Given the description of an element on the screen output the (x, y) to click on. 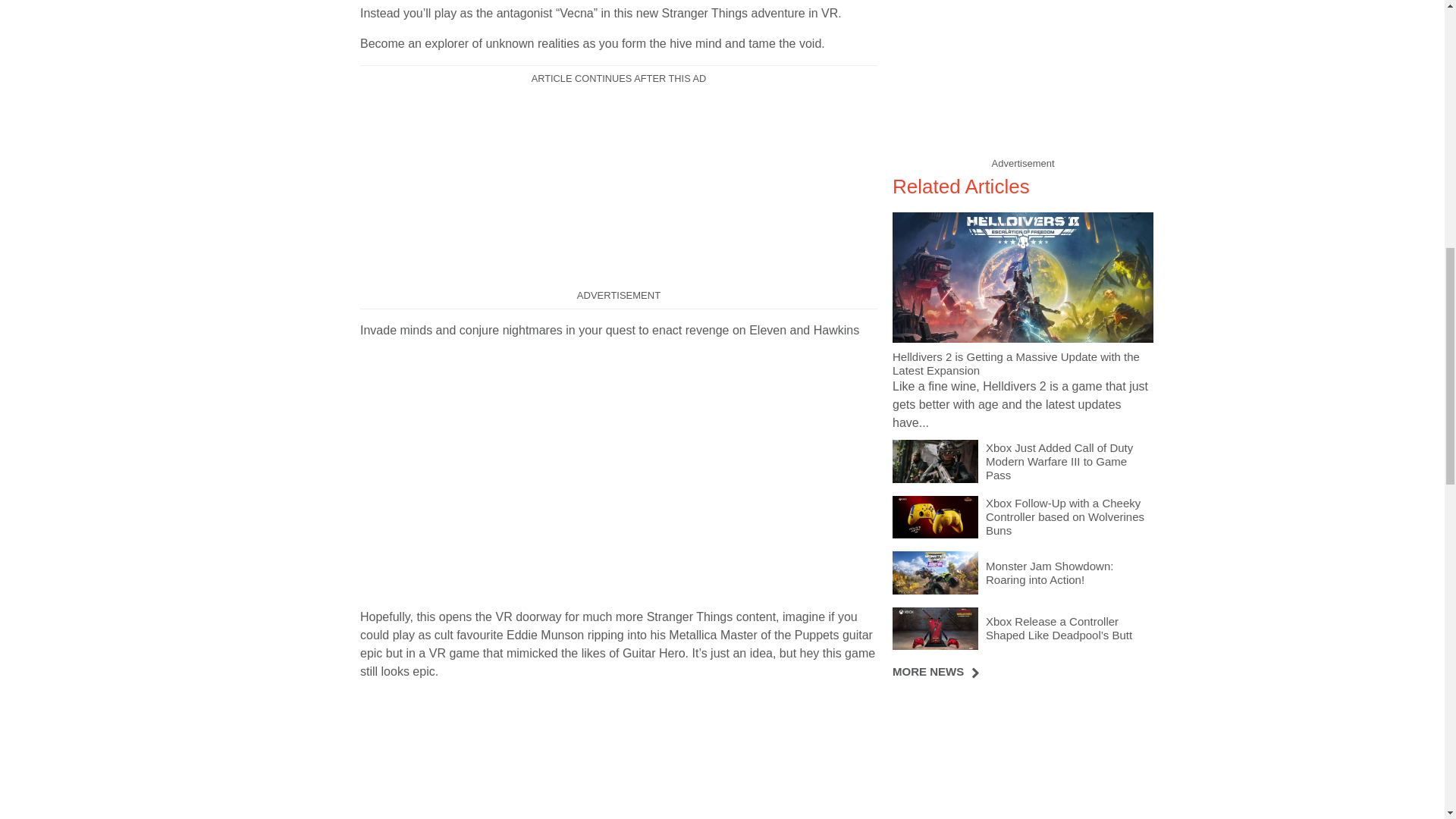
YouTube video player (571, 755)
3rd party ad content (618, 188)
YouTube video player (571, 471)
3rd party ad content (1022, 75)
3rd party ad content (1022, 756)
